Given the description of an element on the screen output the (x, y) to click on. 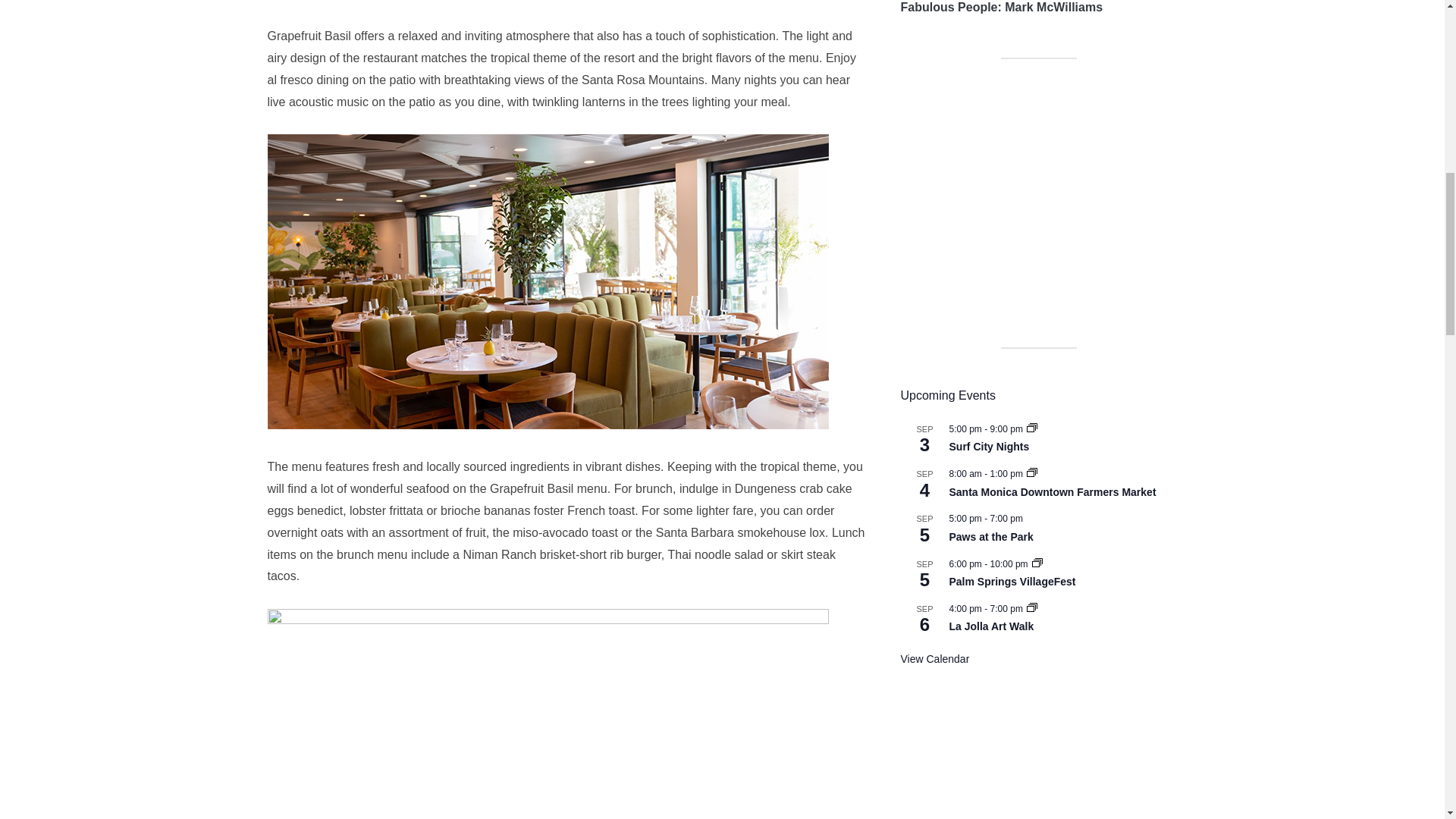
Event Series (1037, 562)
Event Series (1031, 427)
Event Series (1031, 471)
Event Series (1031, 606)
